Given the description of an element on the screen output the (x, y) to click on. 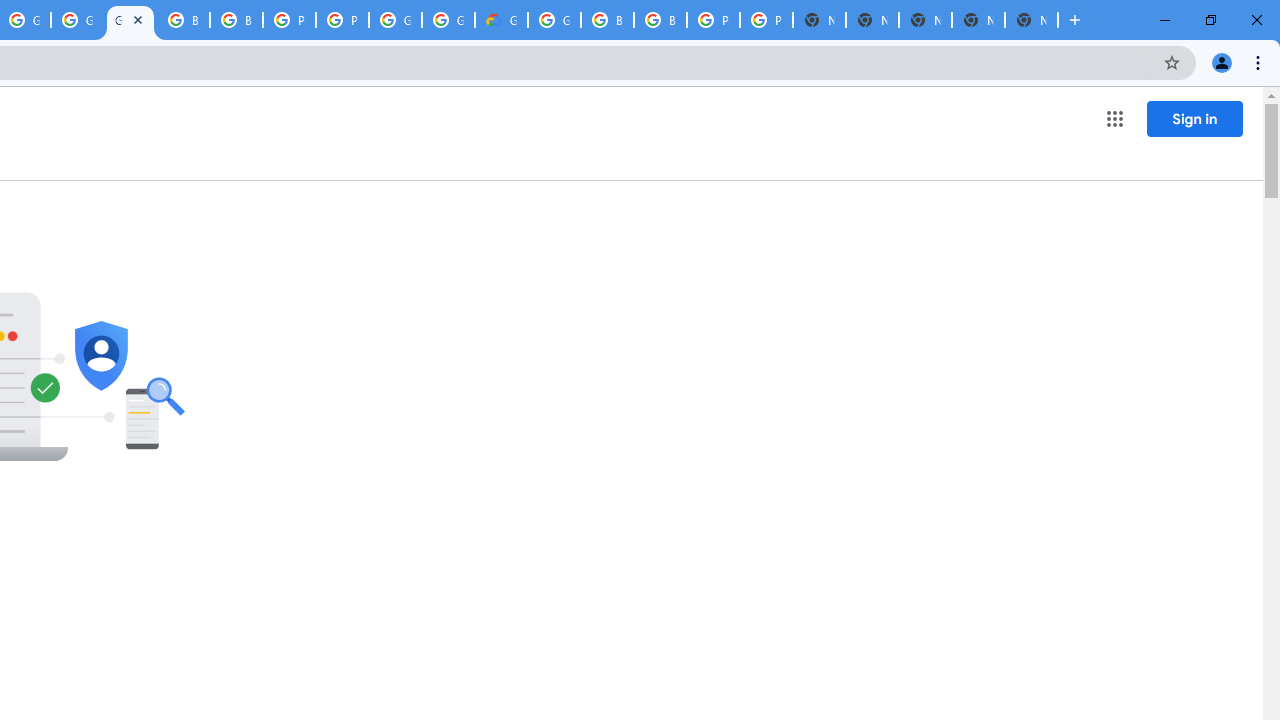
Google Cloud Platform (395, 20)
Google Cloud Platform (554, 20)
Google Cloud Platform (448, 20)
Browse Chrome as a guest - Computer - Google Chrome Help (607, 20)
